Given the description of an element on the screen output the (x, y) to click on. 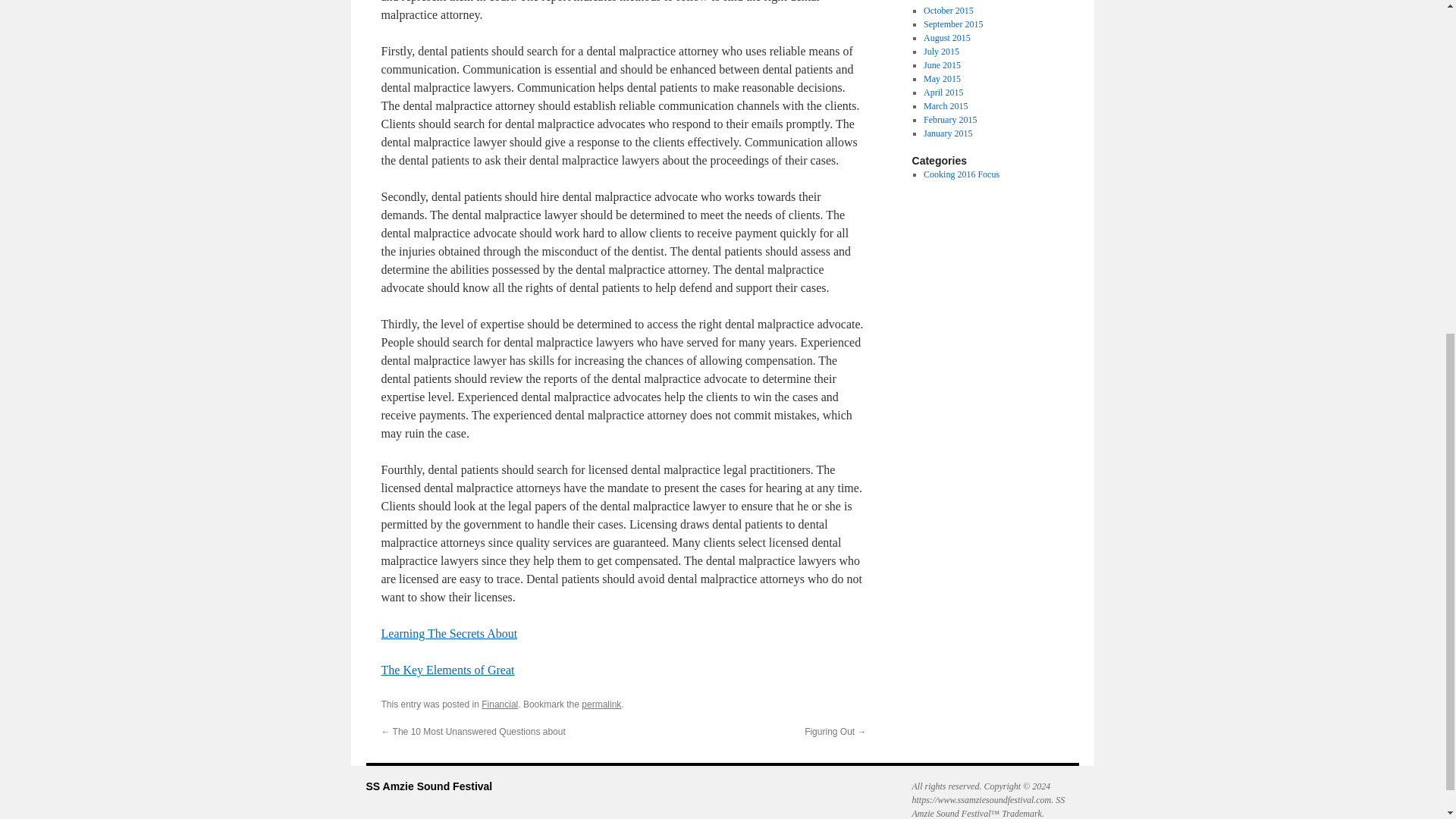
July 2015 (941, 50)
September 2015 (952, 23)
May 2015 (941, 78)
April 2015 (942, 91)
permalink (600, 704)
August 2015 (947, 37)
January 2015 (947, 132)
Cooking 2016 Focus (960, 173)
February 2015 (949, 119)
Learning The Secrets About (448, 633)
October 2015 (948, 9)
November 2015 (952, 1)
June 2015 (941, 64)
Permalink to 3  Tips from Someone With Experience (600, 704)
SS Amzie Sound Festival (428, 786)
